Given the description of an element on the screen output the (x, y) to click on. 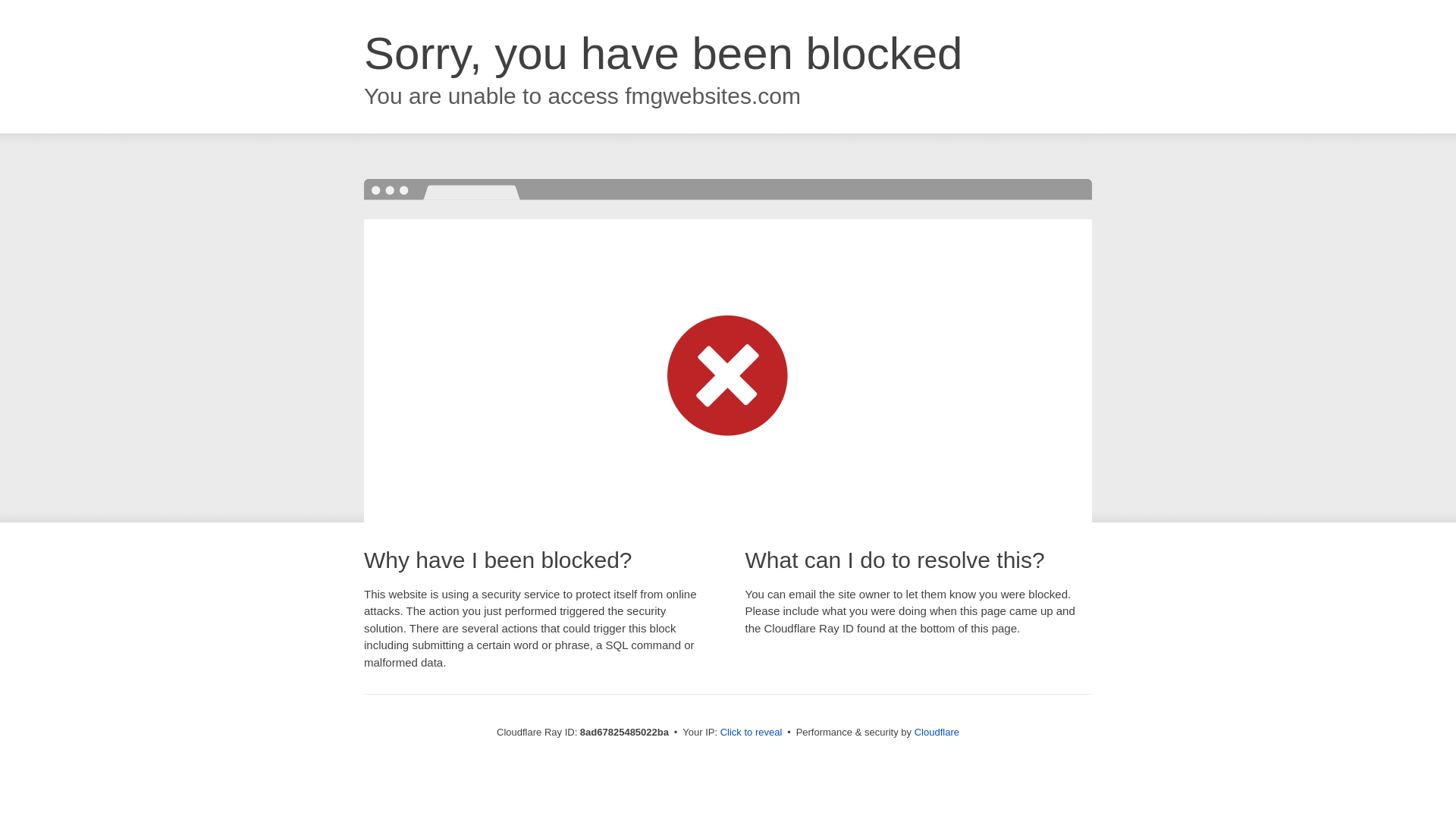
Cloudflare (936, 731)
Click to reveal (751, 732)
